Given the description of an element on the screen output the (x, y) to click on. 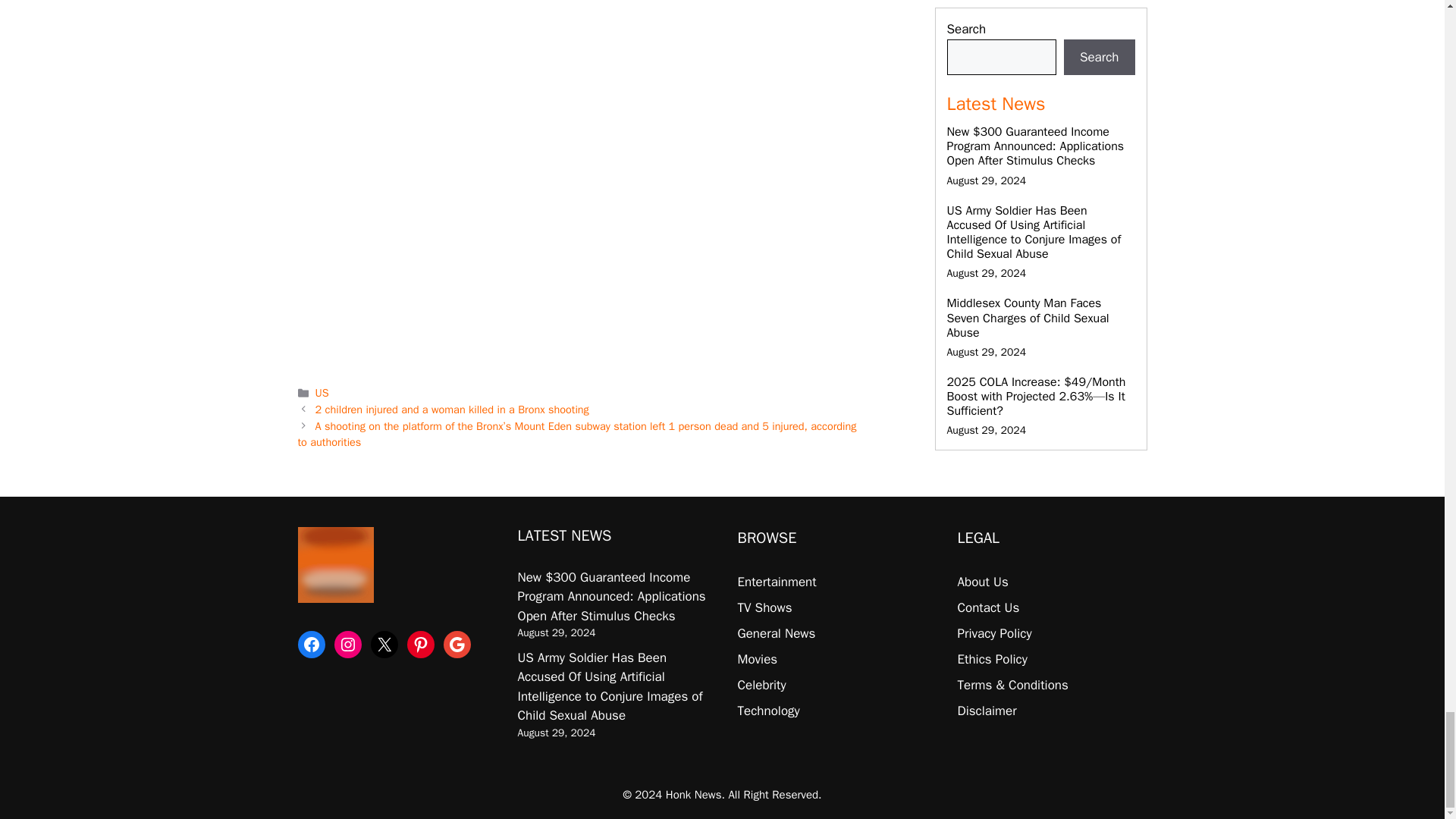
US (322, 392)
2 children injured and a woman killed in a Bronx shooting (452, 409)
Pinterest (419, 644)
X (383, 644)
Instagram (347, 644)
Facebook (310, 644)
